Given the description of an element on the screen output the (x, y) to click on. 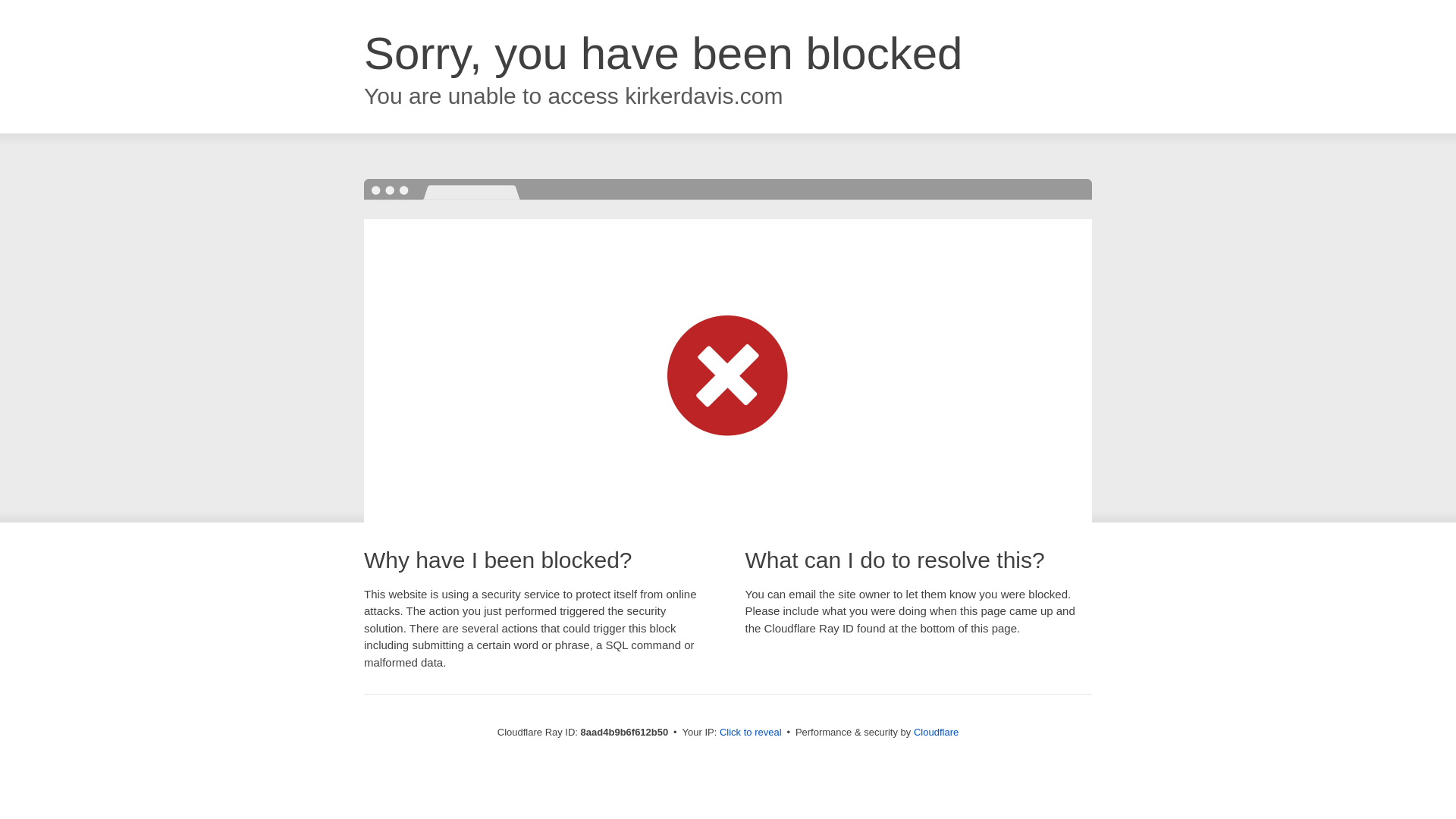
Cloudflare (936, 731)
Click to reveal (750, 732)
